Given the description of an element on the screen output the (x, y) to click on. 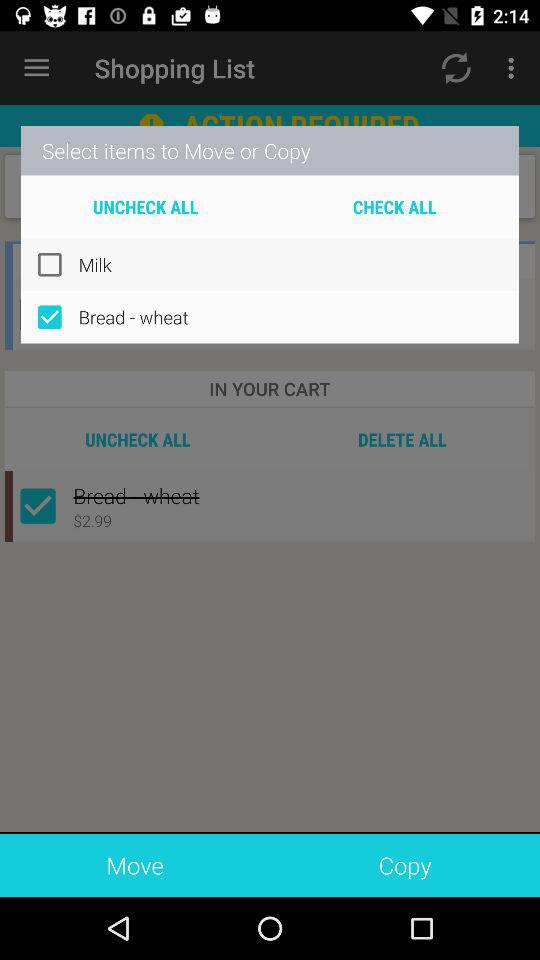
click the icon below select items to icon (394, 206)
